Given the description of an element on the screen output the (x, y) to click on. 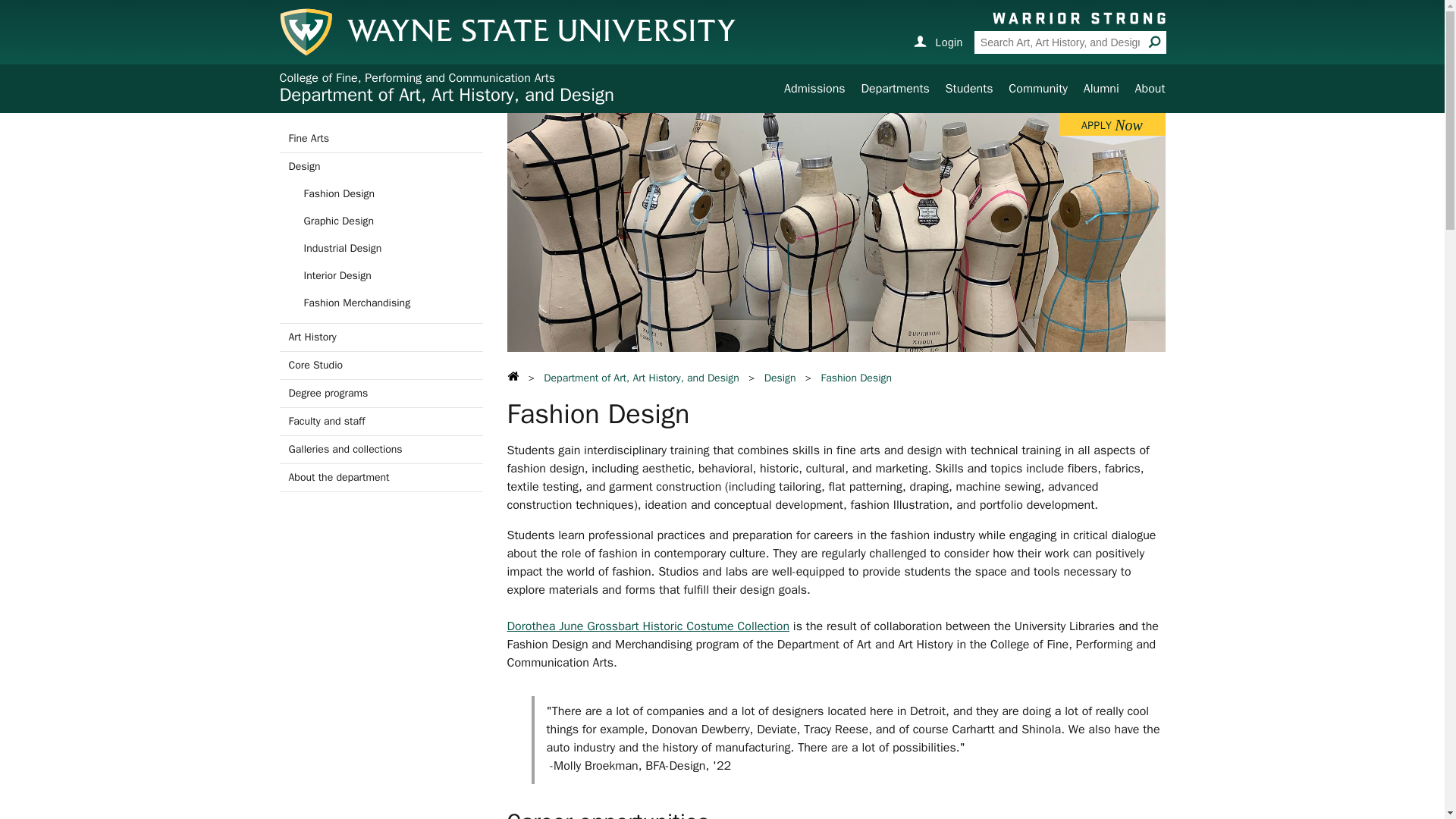
Departments (894, 88)
Galleries and collections (380, 449)
Industrial Design (380, 248)
Department of Art, Art History, and Design (445, 94)
About the department (380, 477)
home (512, 376)
Login (937, 41)
Alumni (1101, 88)
Students (968, 88)
Degree programs (380, 393)
Fashion Design (380, 194)
Admissions (814, 88)
Art History (380, 337)
Search (1154, 41)
Interior Design (380, 275)
